Given the description of an element on the screen output the (x, y) to click on. 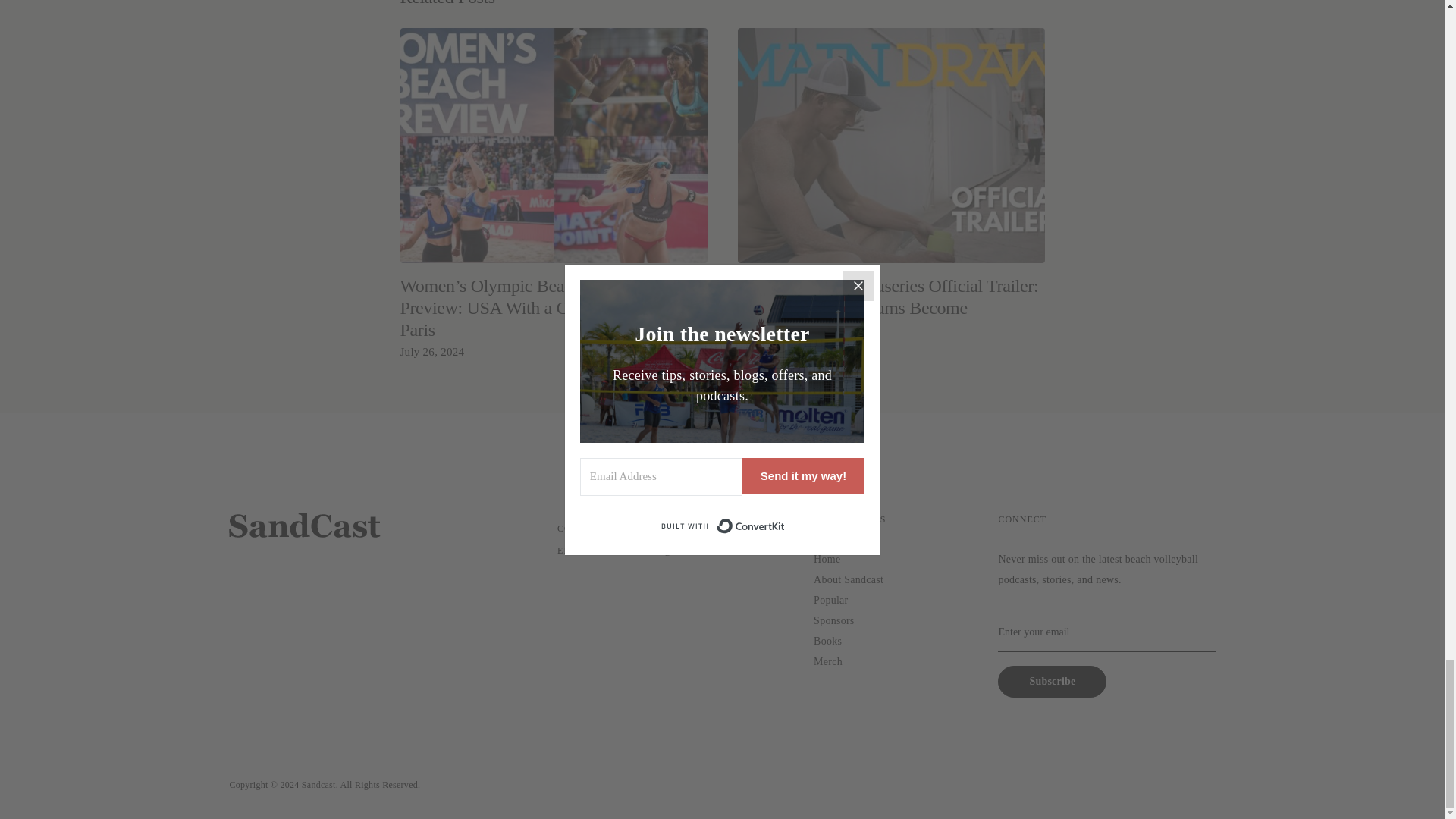
About Sandcast (848, 579)
Home (826, 559)
Popular (830, 600)
Subscribe (1051, 681)
